Given the description of an element on the screen output the (x, y) to click on. 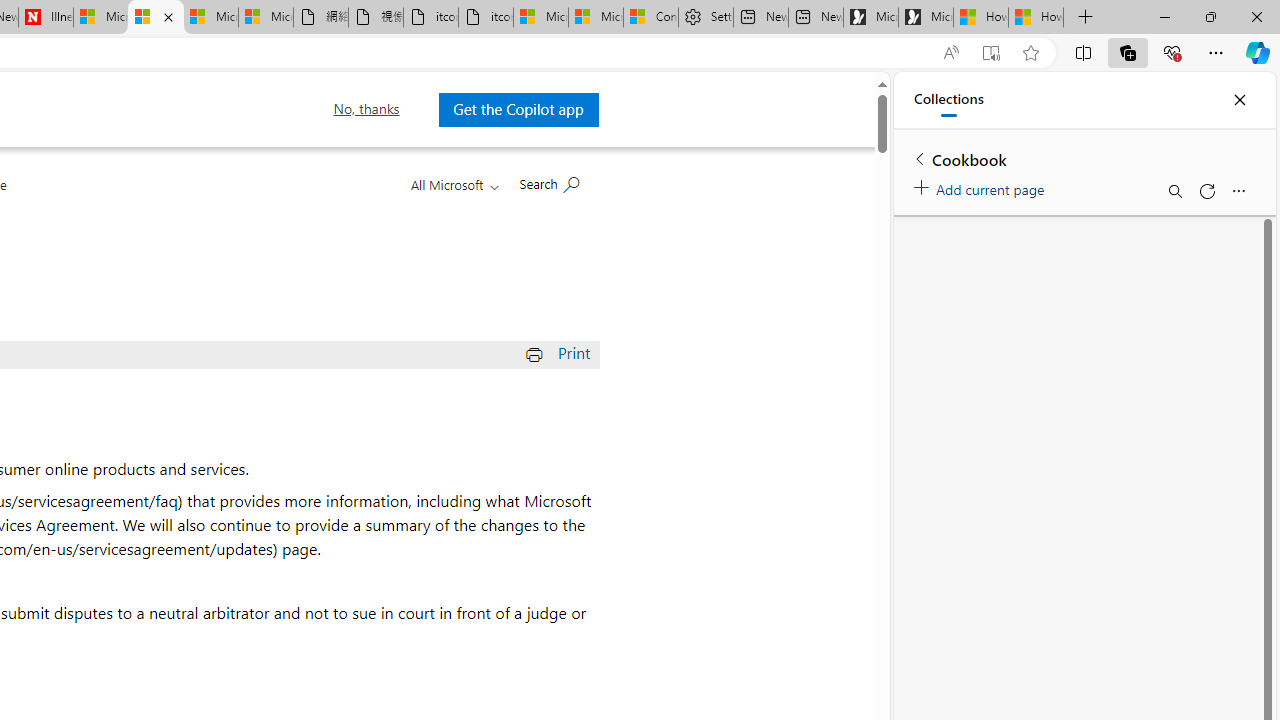
Add current page (982, 186)
Get the Copilot app  (518, 109)
Microsoft account | Privacy (596, 17)
Microsoft Services Agreement (156, 17)
Consumer Health Data Privacy Policy (650, 17)
Print (560, 352)
